Given the description of an element on the screen output the (x, y) to click on. 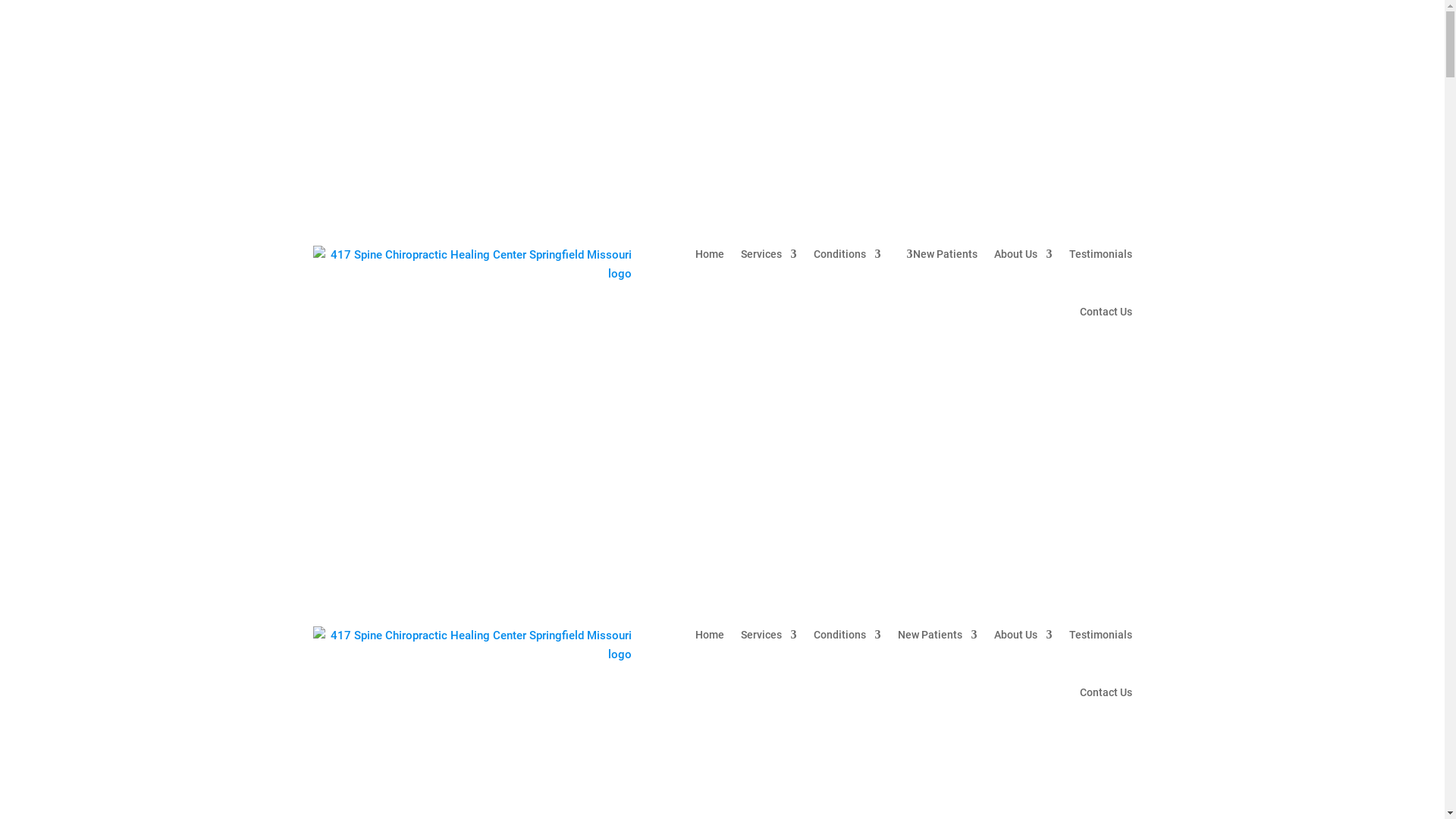
(417) 720-1250 Element type: text (1046, 89)
Conditions Element type: text (846, 634)
Services Element type: text (768, 253)
Testimonials Element type: text (1100, 253)
Services Element type: text (768, 634)
(417) 889-2225 Element type: text (830, 89)
Conditions Element type: text (846, 253)
About Us Element type: text (1022, 634)
Home Element type: text (708, 253)
Home Element type: text (708, 634)
Contact Us Element type: text (1105, 692)
New Patients Element type: text (945, 253)
About Us Element type: text (1022, 253)
Contact Us Element type: text (1105, 311)
Testimonials Element type: text (1100, 634)
New Patients Element type: text (937, 634)
